Given the description of an element on the screen output the (x, y) to click on. 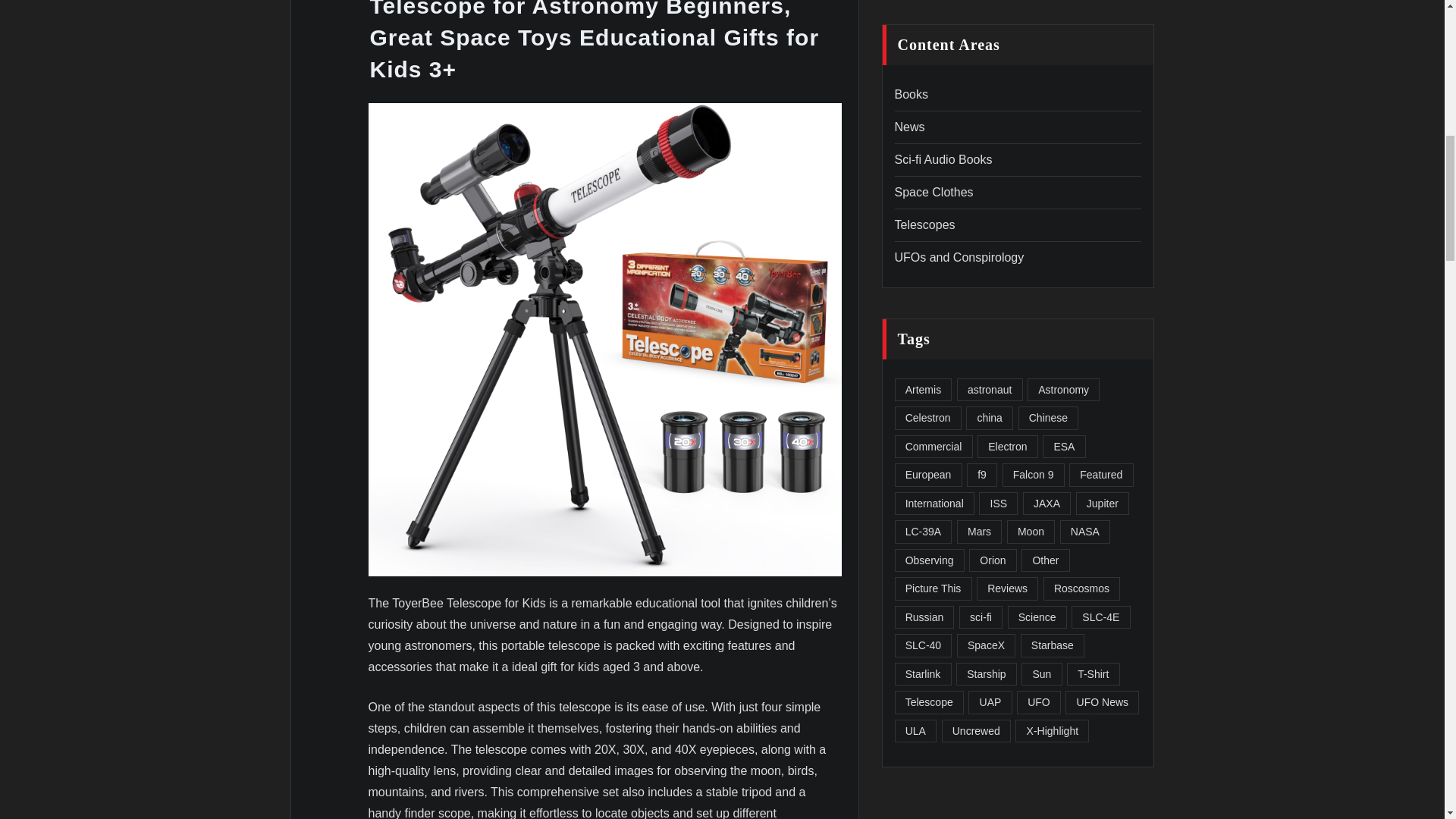
Observing (929, 560)
astronaut (989, 390)
European (928, 474)
ESA (1063, 446)
Mars (979, 531)
china (989, 417)
Falcon 9 (1033, 474)
f9 (981, 474)
Telescopes (925, 224)
International (934, 503)
NASA (1084, 531)
Space Clothes (934, 192)
LC-39A (923, 531)
Jupiter (1102, 503)
Celestron (927, 417)
